Given the description of an element on the screen output the (x, y) to click on. 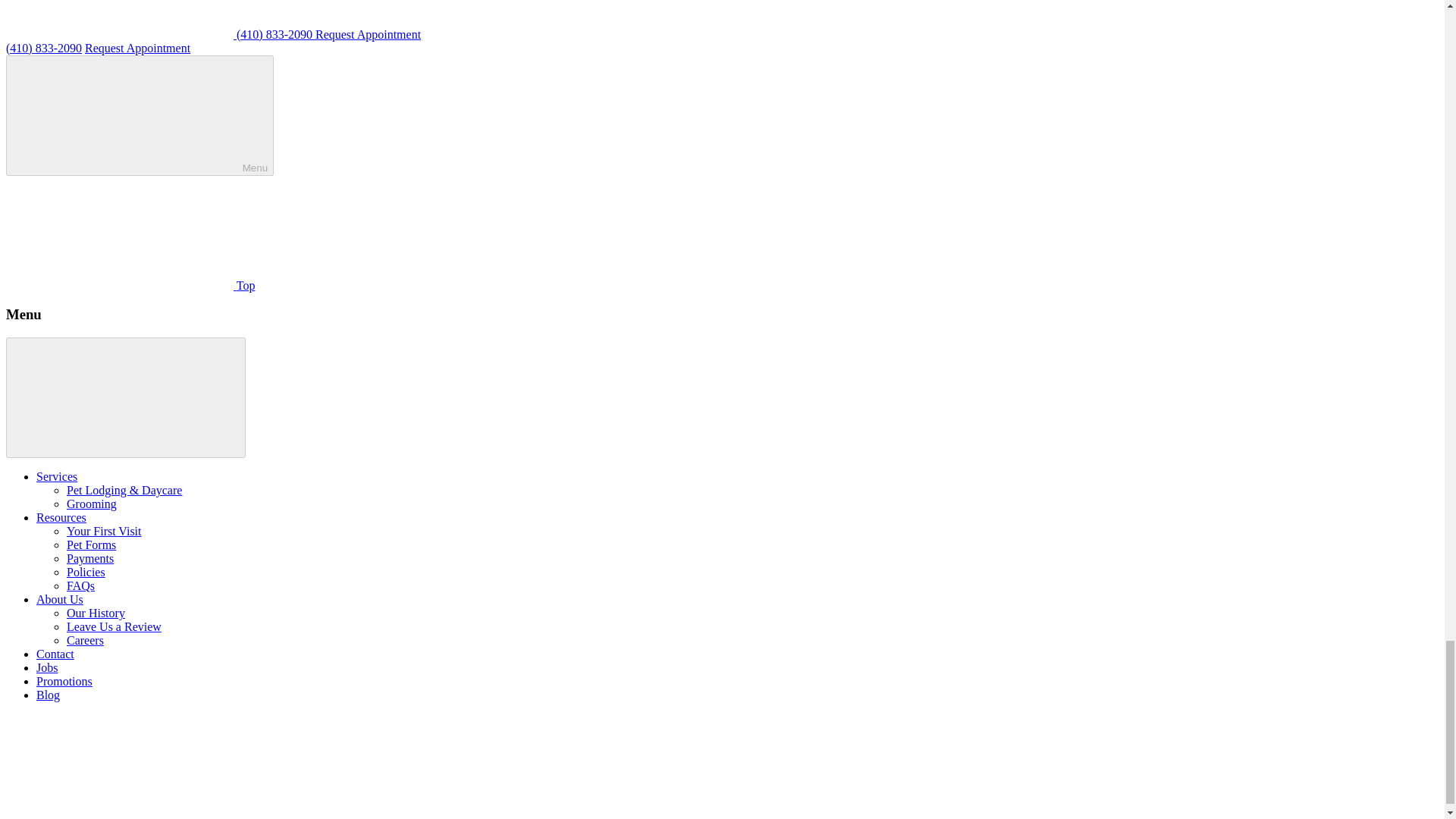
Top (129, 285)
